Given the description of an element on the screen output the (x, y) to click on. 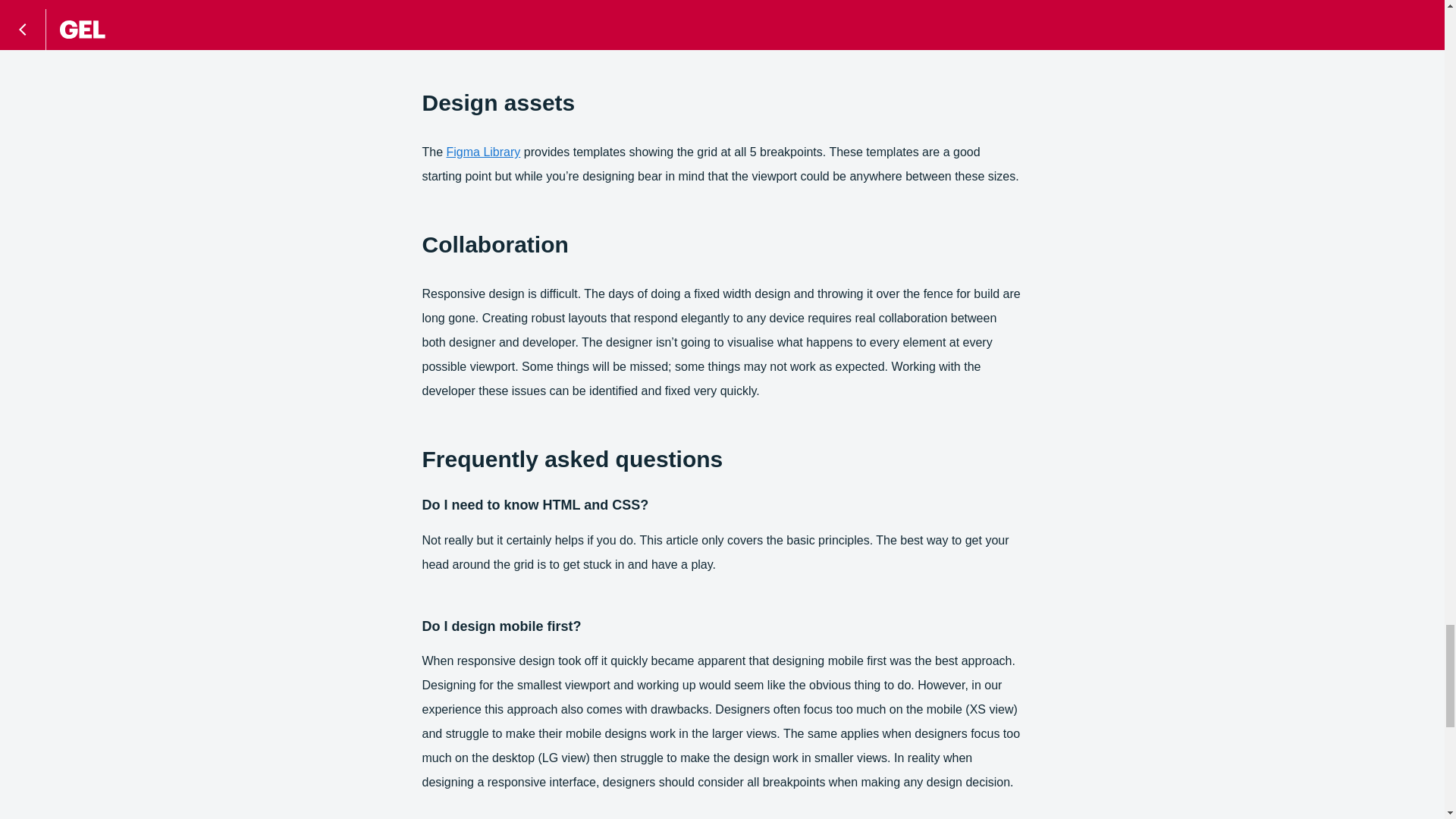
Figma Library (483, 151)
